Given the description of an element on the screen output the (x, y) to click on. 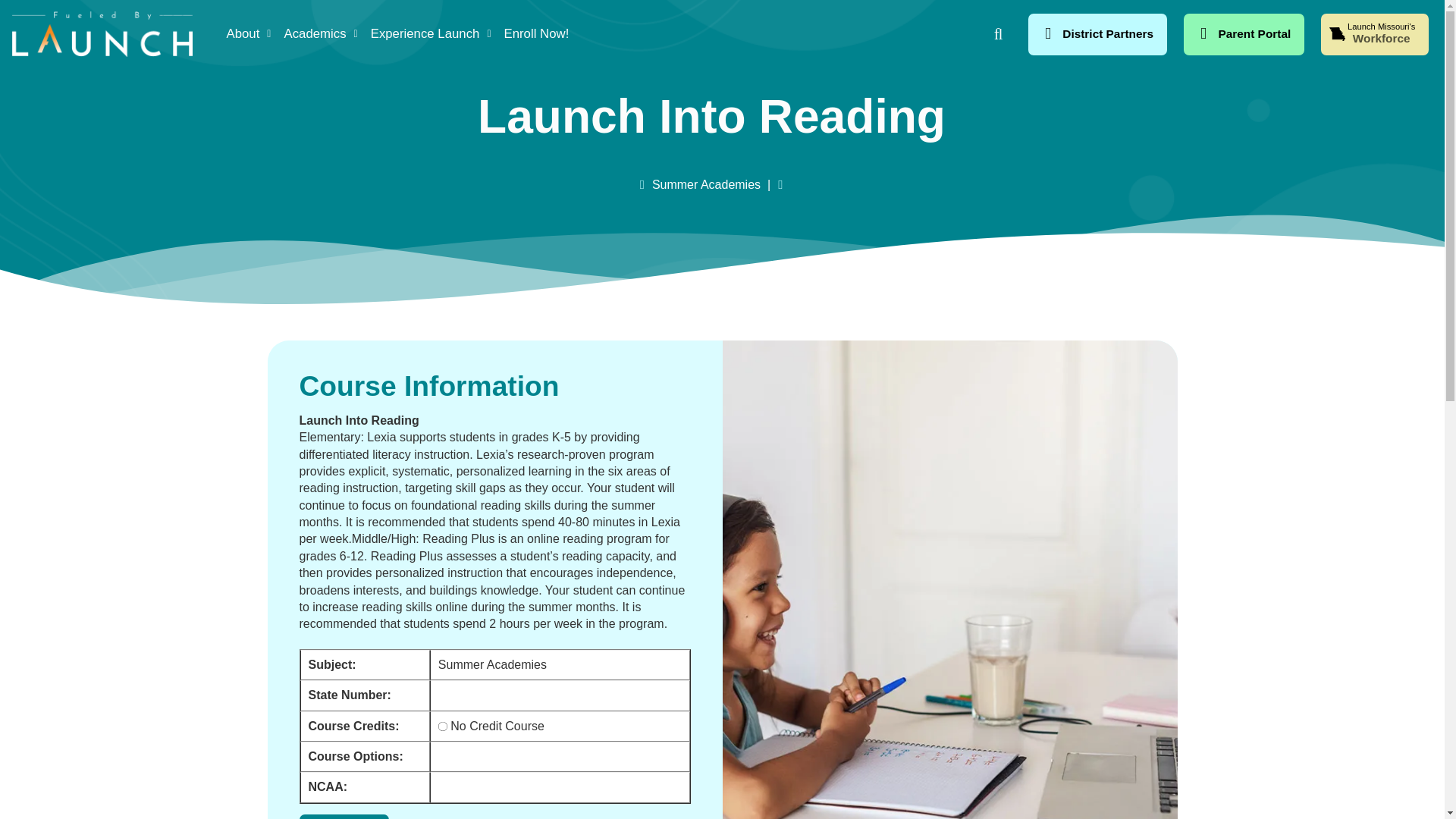
Academics (1374, 34)
About (321, 33)
Experience Launch (248, 33)
Get Started (430, 33)
Enroll Now! (343, 816)
Parent Portal (536, 33)
District Partners (1243, 34)
